Given the description of an element on the screen output the (x, y) to click on. 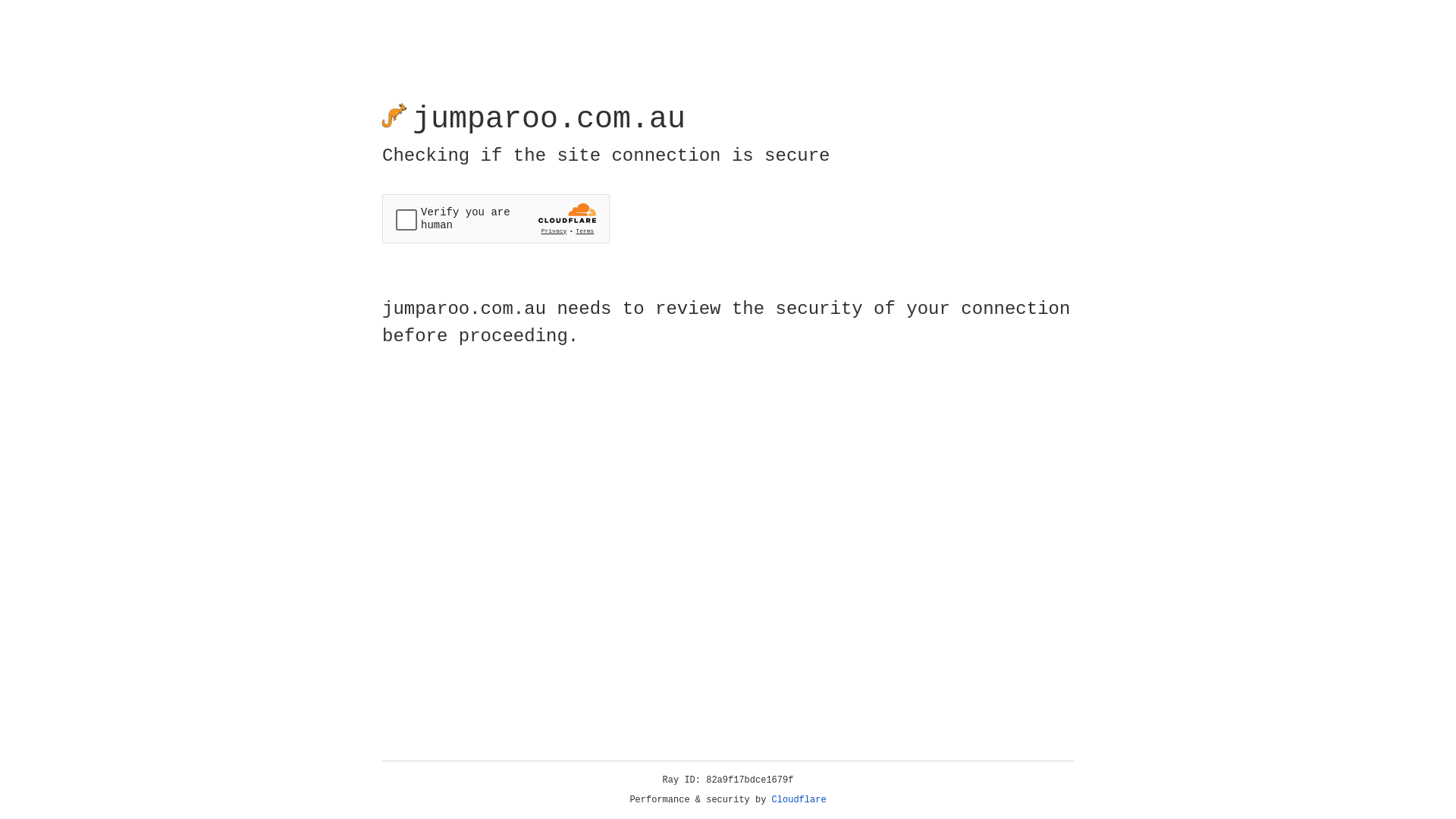
Cloudflare Element type: text (798, 799)
Widget containing a Cloudflare security challenge Element type: hover (495, 218)
